Given the description of an element on the screen output the (x, y) to click on. 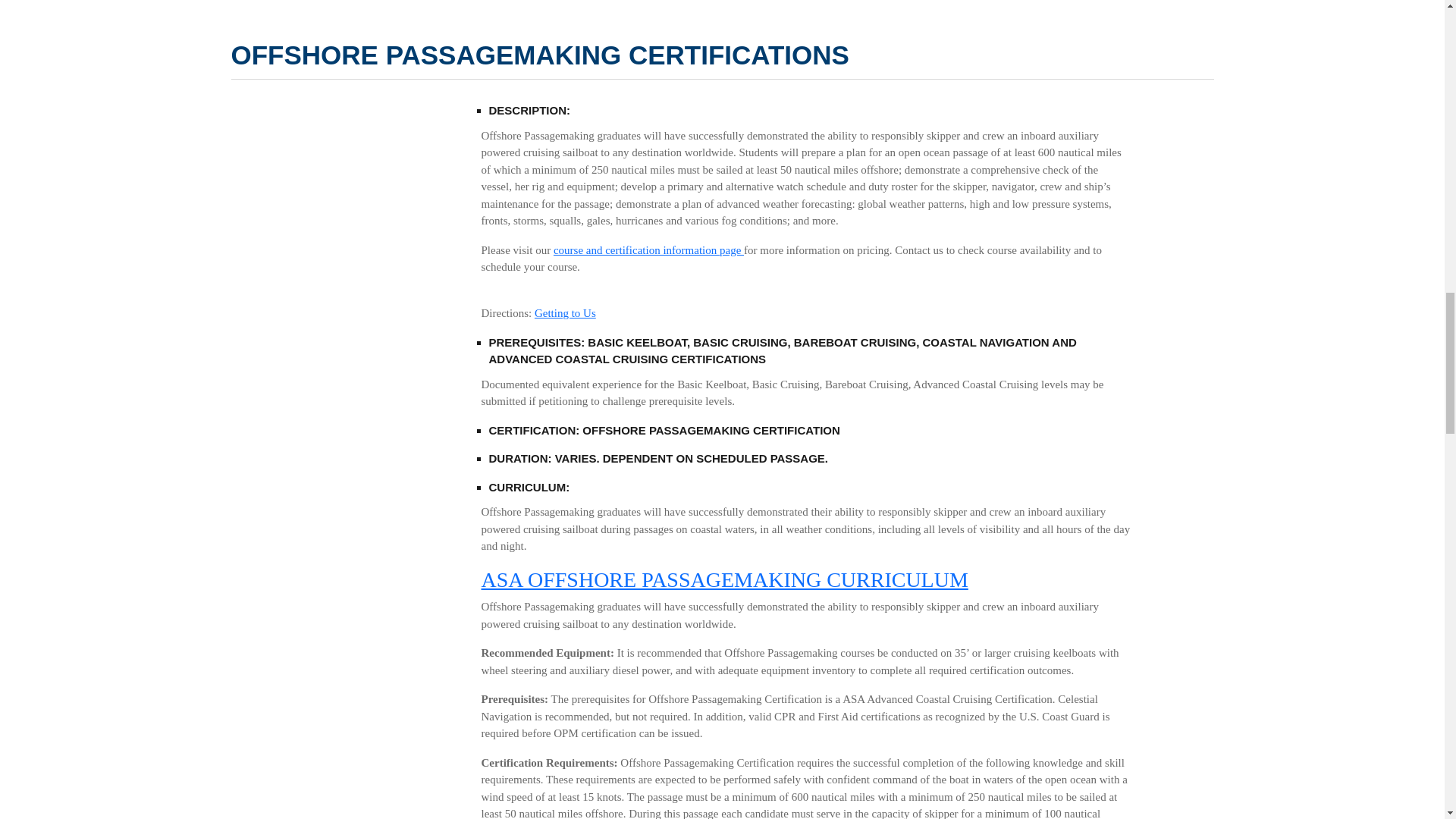
Offshore Passagemaking Certifications: ASA 108 Course URL (724, 578)
Offshore Passagemaking Certifications: Getting to Us URL (564, 313)
